Given the description of an element on the screen output the (x, y) to click on. 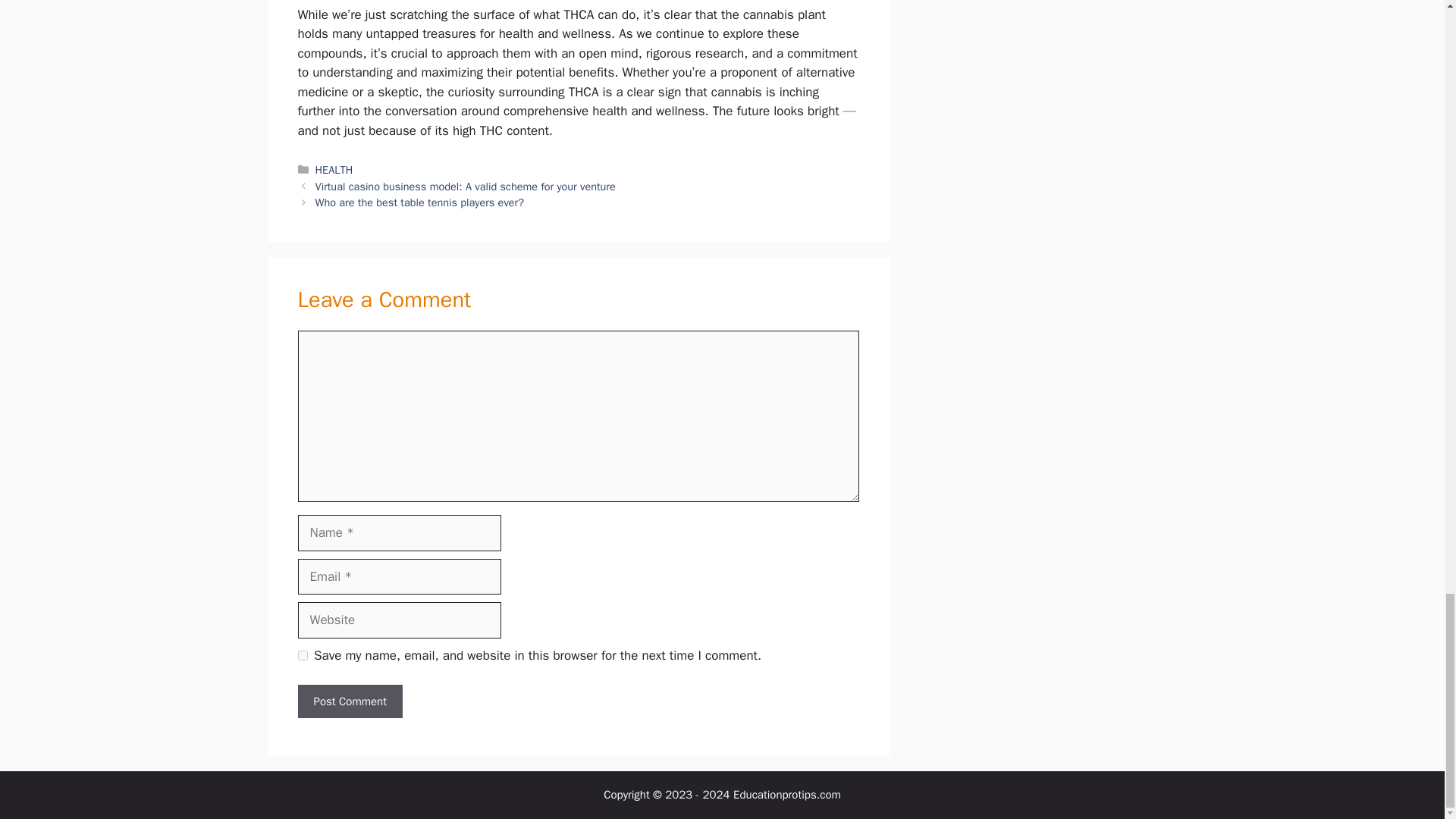
Post Comment (349, 701)
Post Comment (349, 701)
yes (302, 655)
HEALTH (334, 169)
Who are the best table tennis players ever? (419, 202)
